Given the description of an element on the screen output the (x, y) to click on. 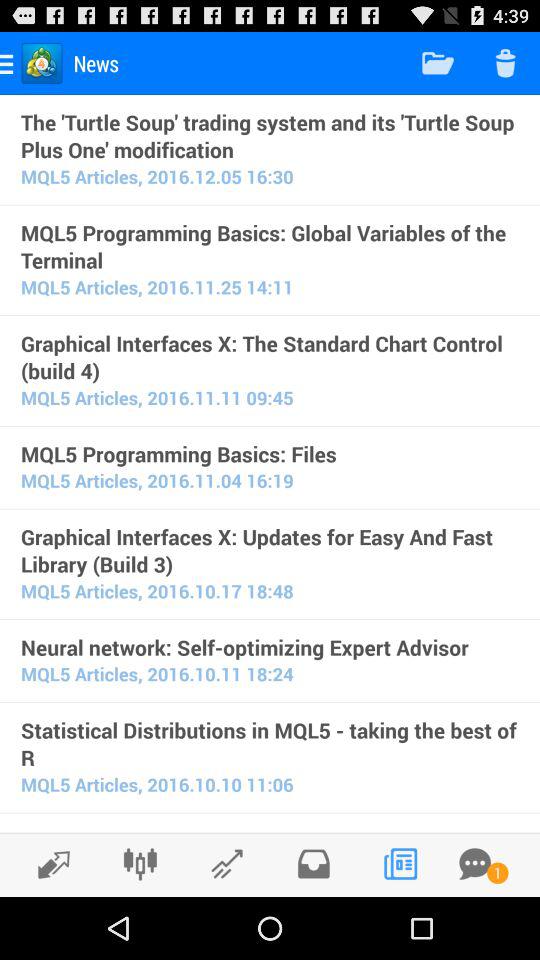
click here for messages (475, 864)
